Given the description of an element on the screen output the (x, y) to click on. 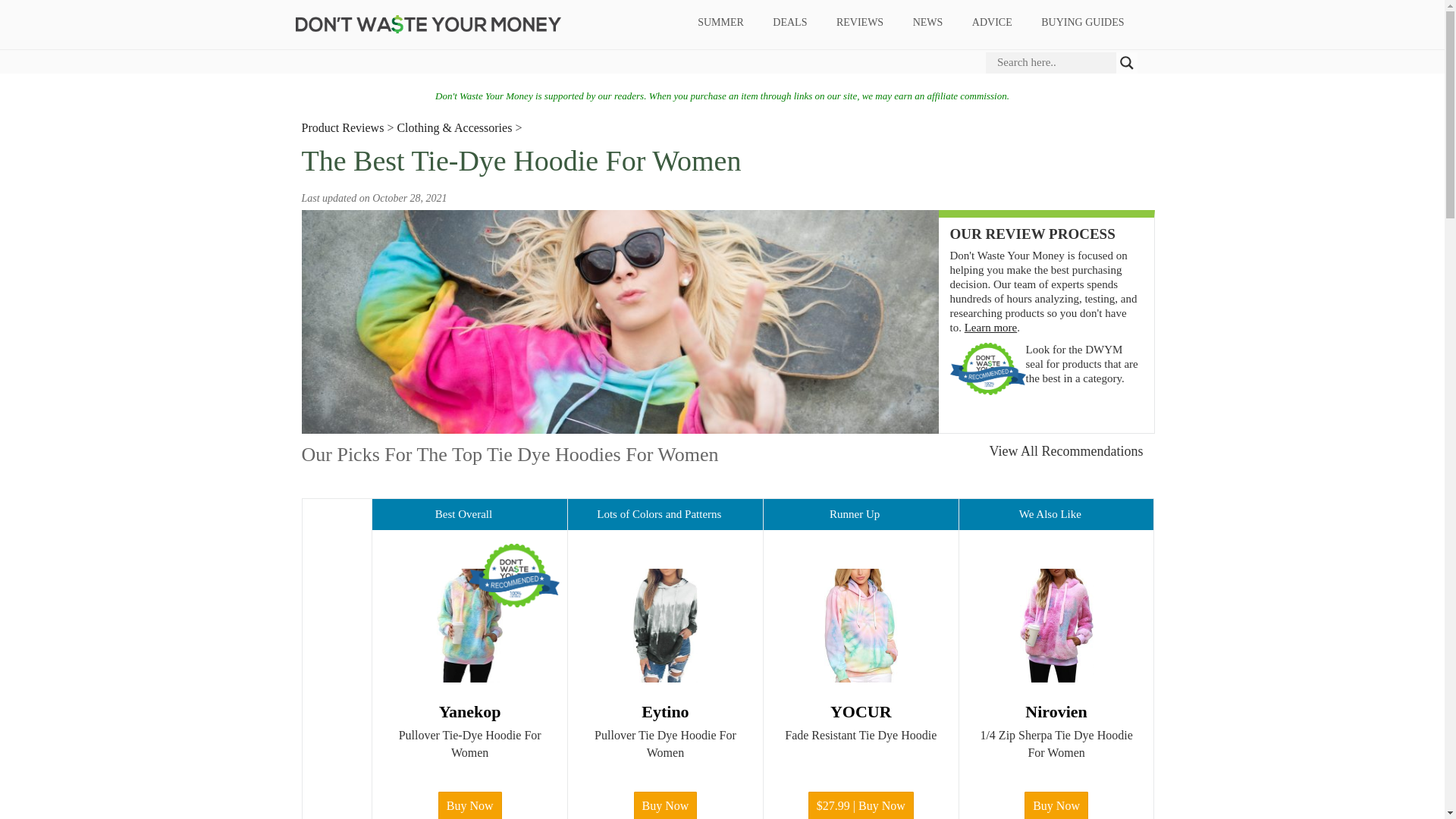
Buy Now (1056, 805)
Buy Now (665, 805)
REVIEWS (859, 22)
Buy Now (470, 805)
Product Reviews (342, 127)
SUMMER (720, 22)
Learn more (990, 327)
ADVICE (991, 22)
BUYING GUIDES (1082, 22)
DEALS (790, 22)
NEWS (927, 22)
